Given the description of an element on the screen output the (x, y) to click on. 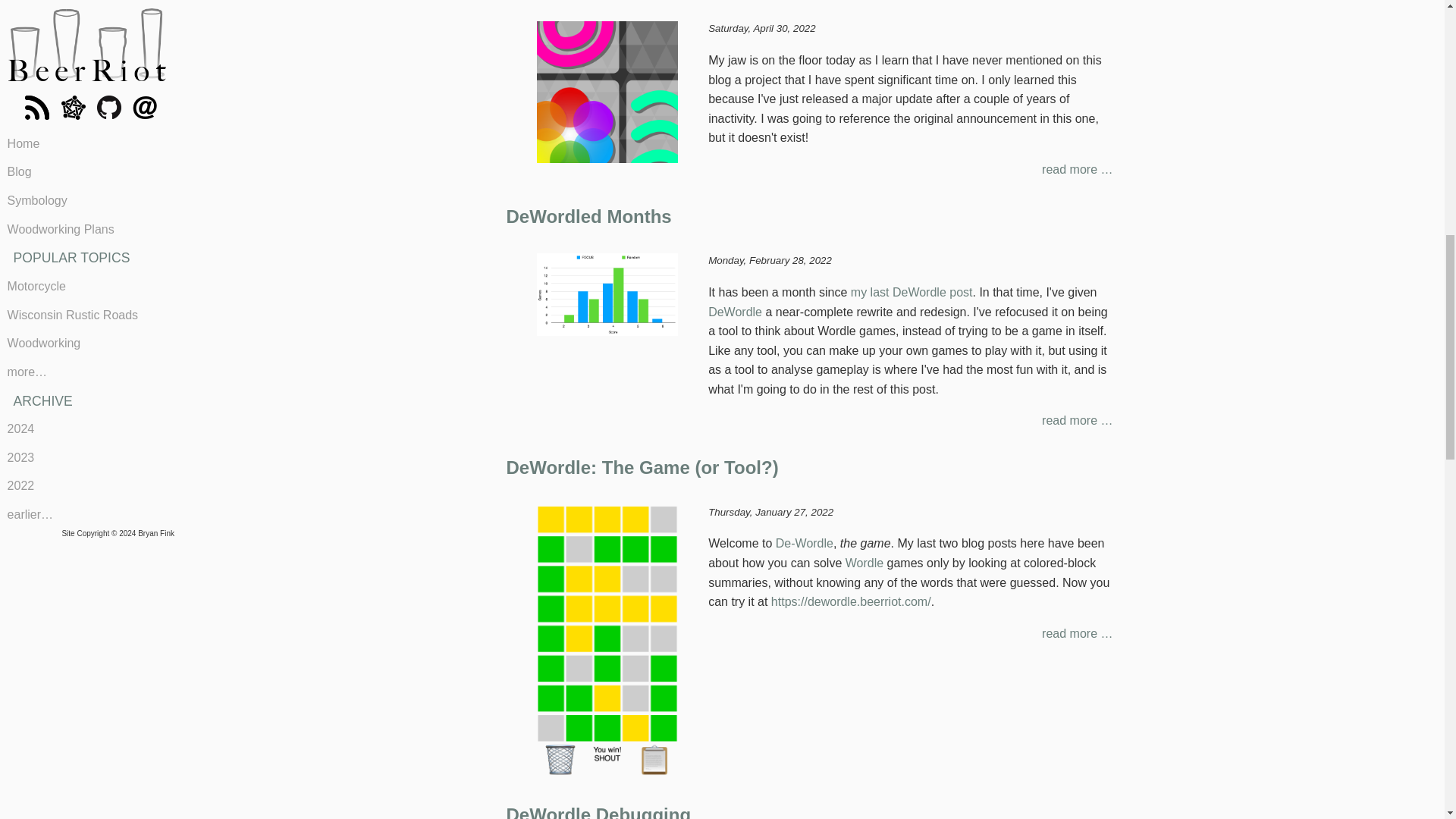
DeWordled Months (588, 216)
my last DeWordle post (911, 291)
De-Wordle (804, 543)
DeWordle (734, 311)
Wordle (864, 562)
